Given the description of an element on the screen output the (x, y) to click on. 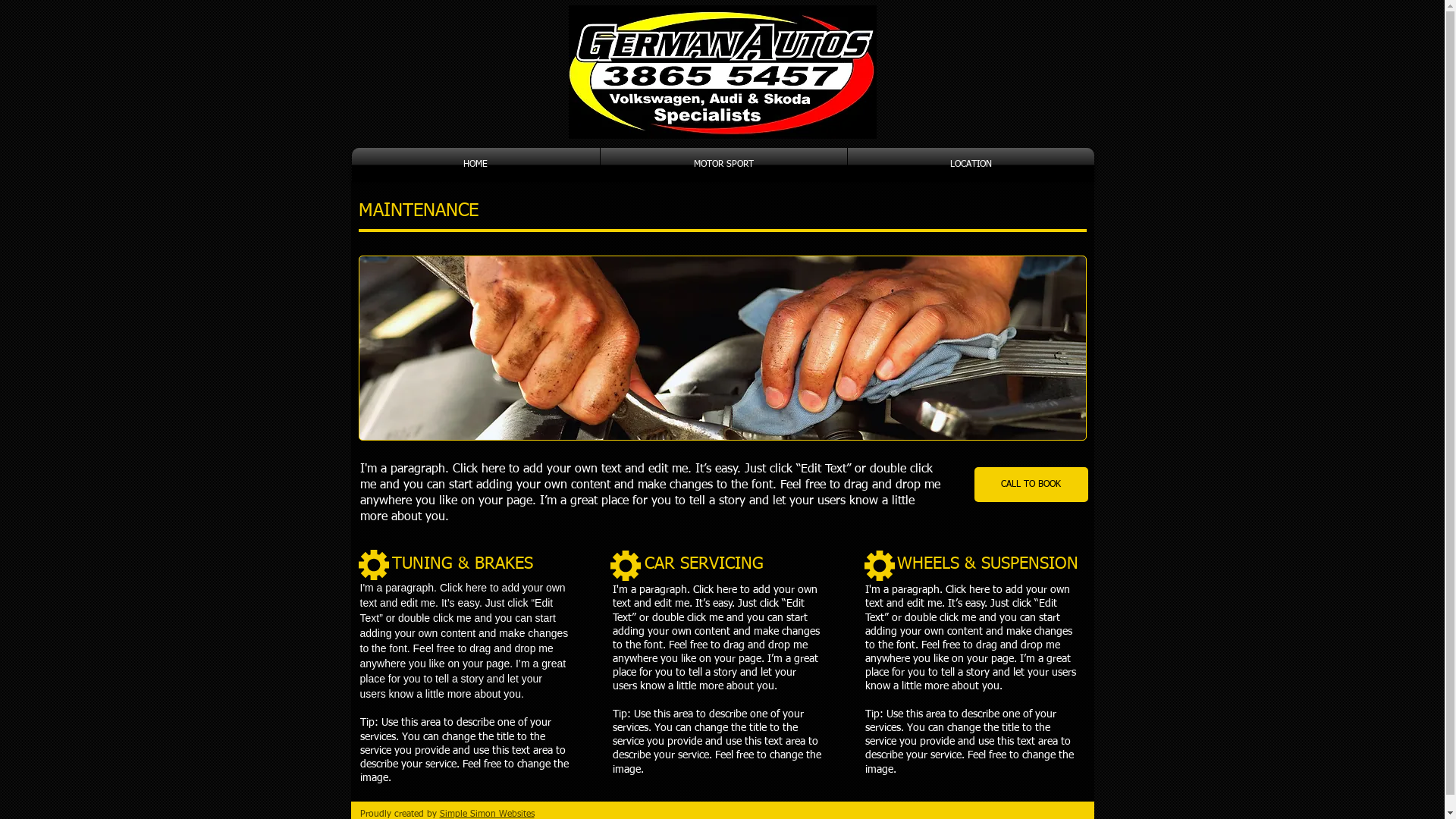
HOME Element type: text (475, 164)
CALL TO BOOK Element type: text (1030, 484)
LOCATION Element type: text (970, 164)
MOTOR SPORT Element type: text (723, 164)
